Given the description of an element on the screen output the (x, y) to click on. 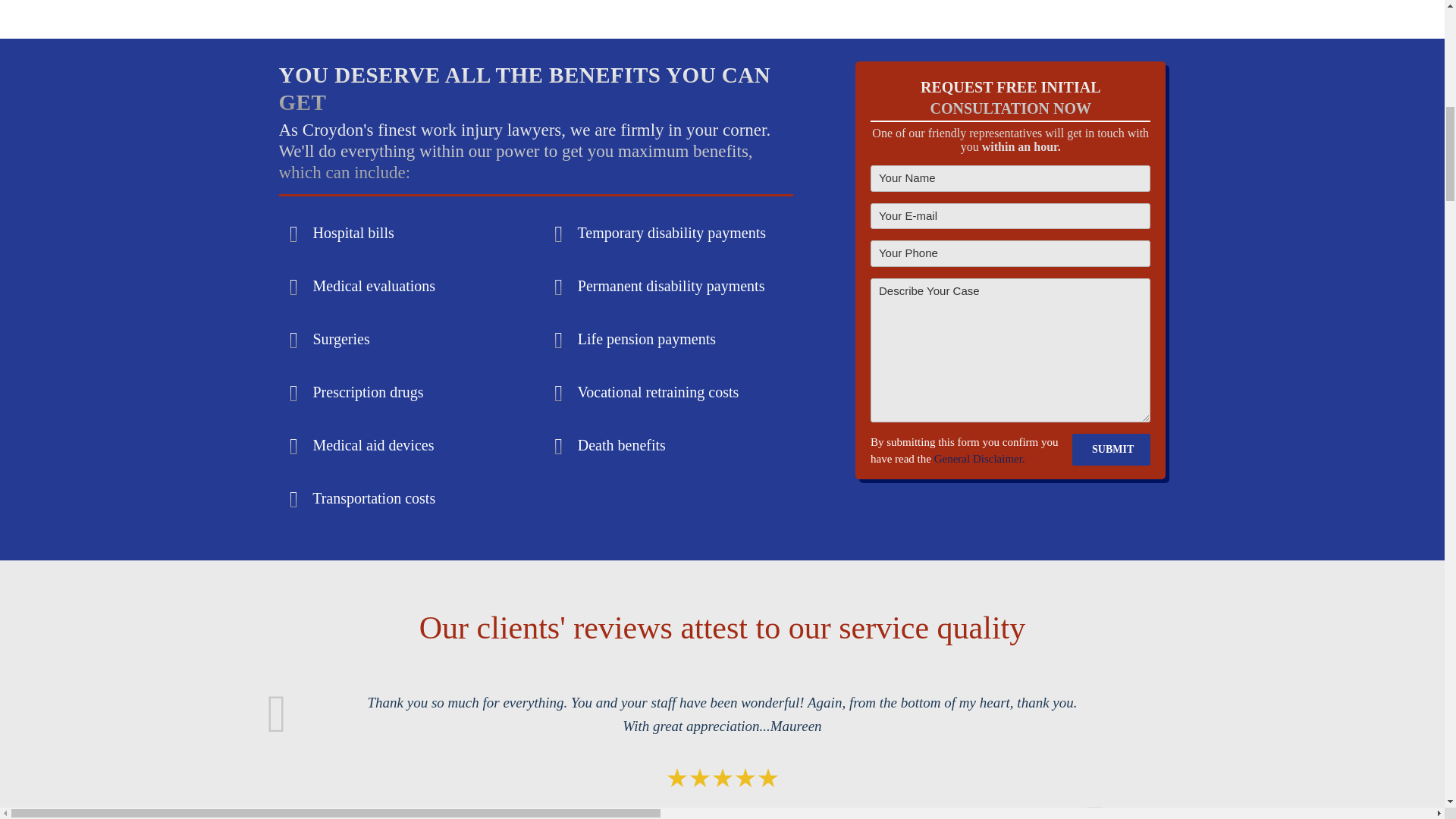
transparent-slide (722, 753)
Submit (1110, 450)
slide-injured-worker-1 (722, 19)
Our clients' reviews attest to our service quality (721, 628)
